Given the description of an element on the screen output the (x, y) to click on. 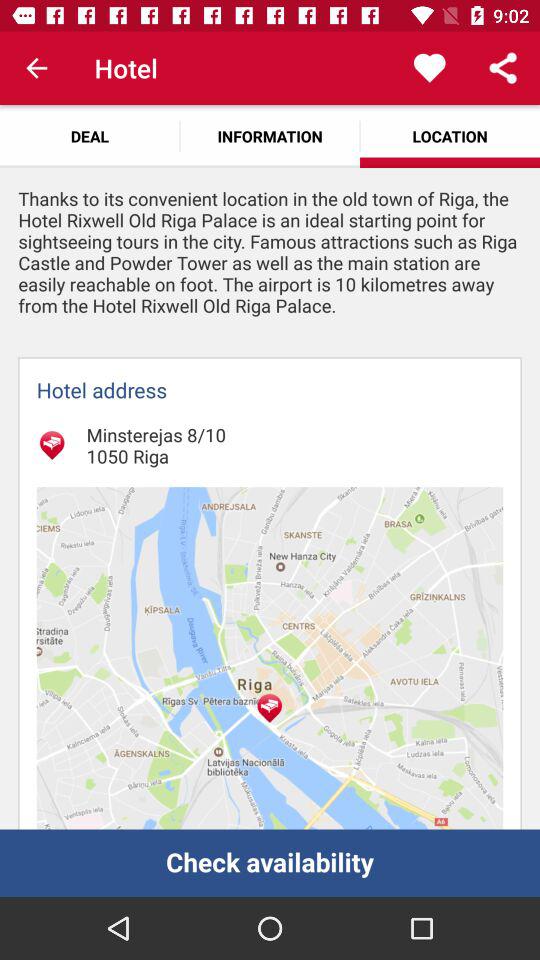
jump to the check availability item (270, 862)
